Given the description of an element on the screen output the (x, y) to click on. 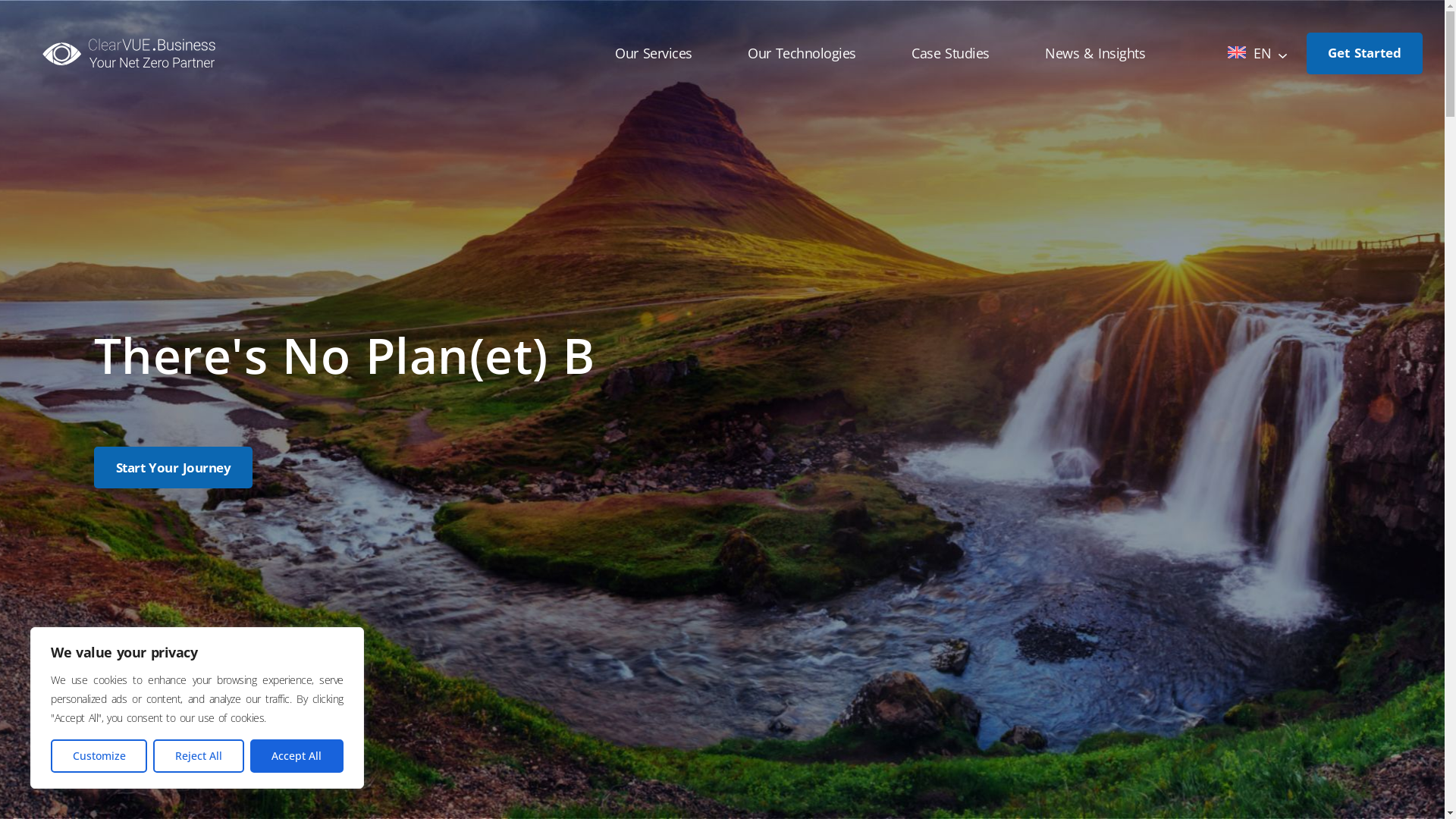
Case Studies Element type: text (950, 52)
Get Started Element type: text (1364, 52)
News & Insights Element type: text (1094, 52)
Our Technologies Element type: text (801, 52)
Our Services Element type: text (653, 52)
Reject All Element type: text (198, 755)
Customize Element type: text (98, 755)
Start Your Journey Element type: text (173, 467)
Accept All Element type: text (296, 755)
